Given the description of an element on the screen output the (x, y) to click on. 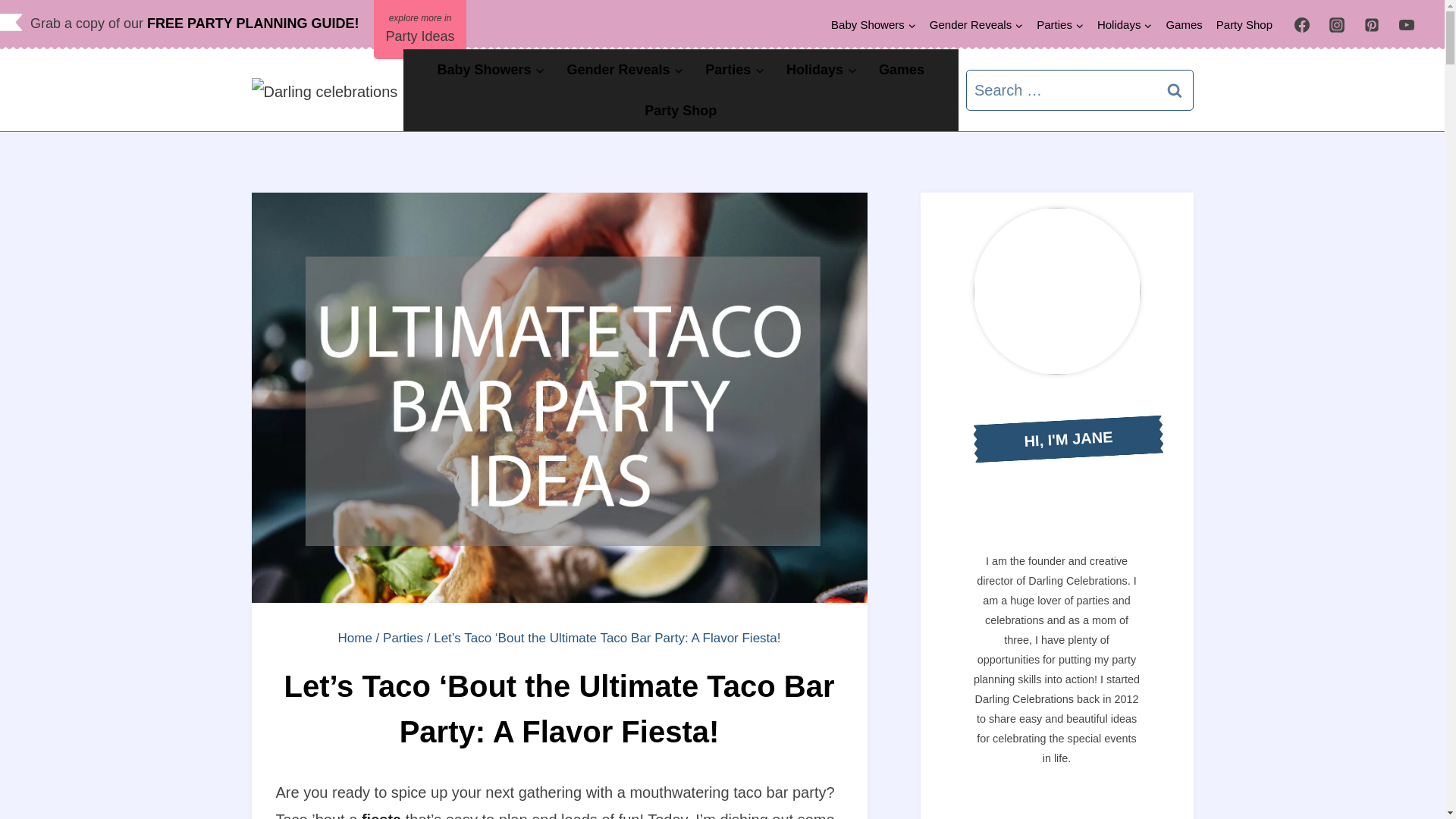
Parties (1059, 24)
Games (1183, 24)
Party Shop (1244, 24)
FREE PARTY PLANNING GUIDE!   (256, 23)
Party Ideas (419, 29)
Baby Showers (491, 69)
Gender Reveals (976, 24)
Baby Showers (873, 24)
Search (1174, 89)
Search (1174, 89)
Holidays (1124, 24)
